Given the description of an element on the screen output the (x, y) to click on. 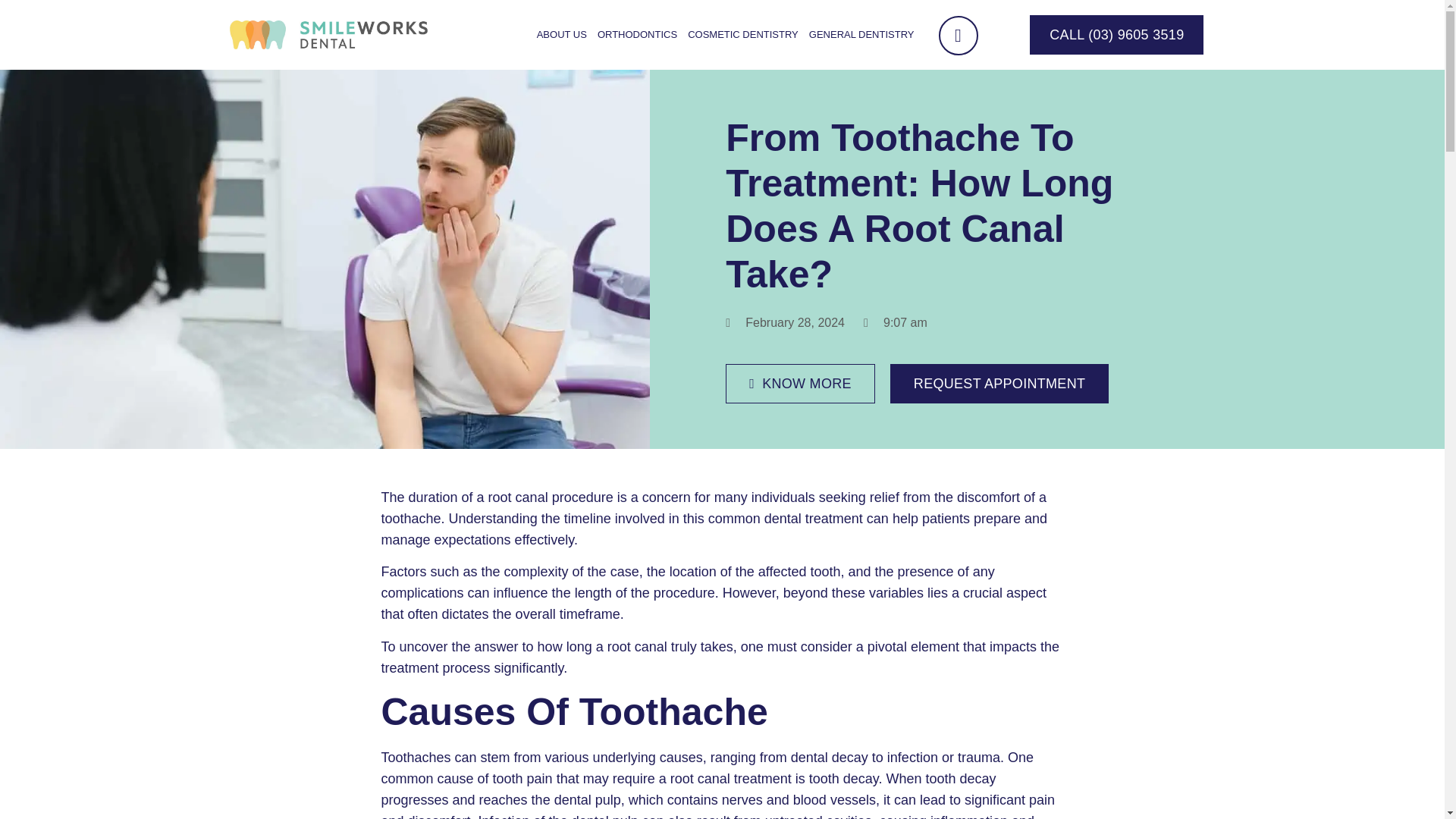
ABOUT US (561, 34)
COSMETIC DENTISTRY (742, 34)
GENERAL DENTISTRY (861, 34)
ORTHODONTICS (637, 34)
